Given the description of an element on the screen output the (x, y) to click on. 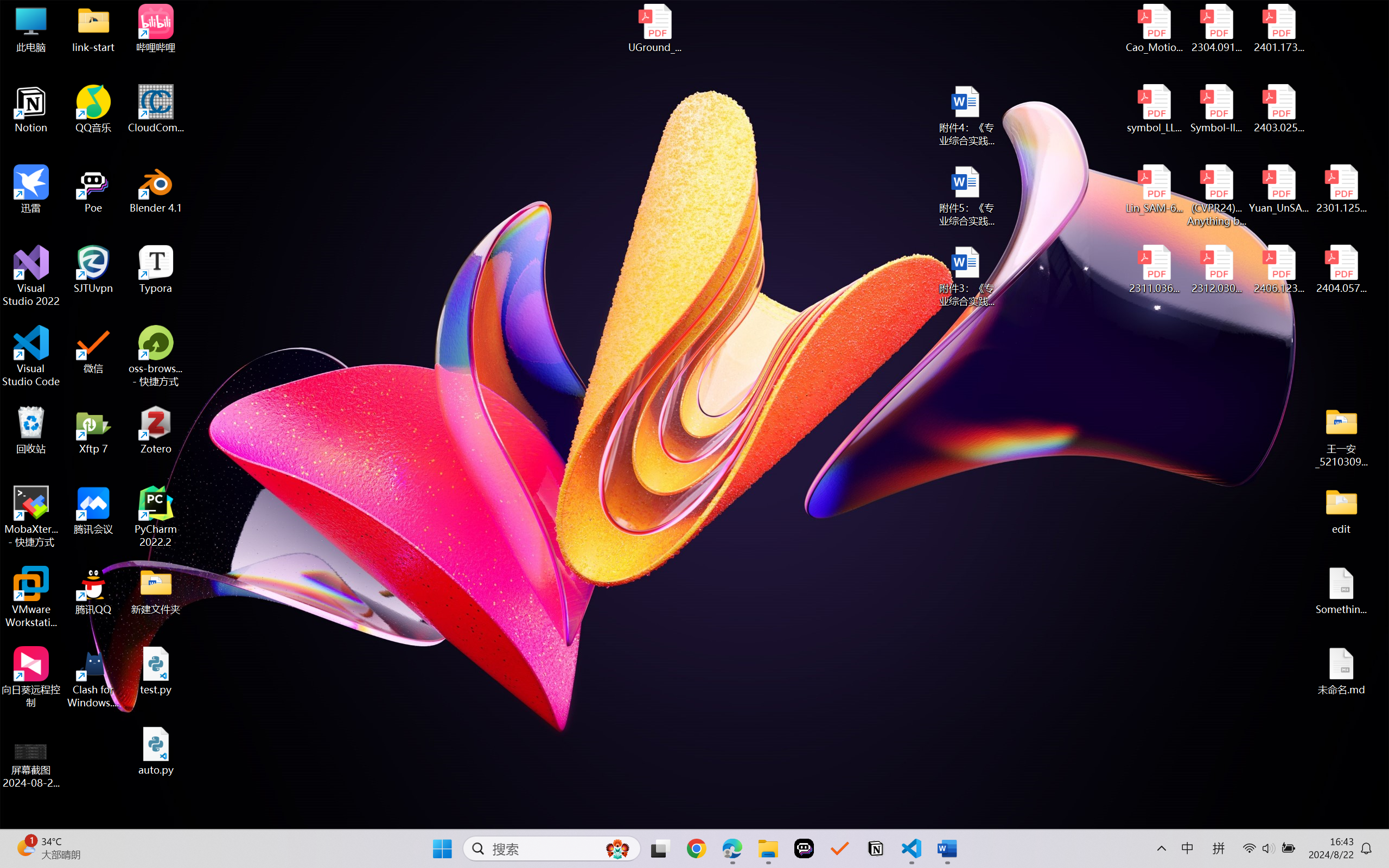
Visual Studio Code (31, 355)
symbol_LLM.pdf (1154, 109)
SJTUvpn (93, 269)
edit (1340, 510)
test.py (156, 670)
(CVPR24)Matching Anything by Segmenting Anything.pdf (1216, 195)
Blender 4.1 (156, 189)
